Given the description of an element on the screen output the (x, y) to click on. 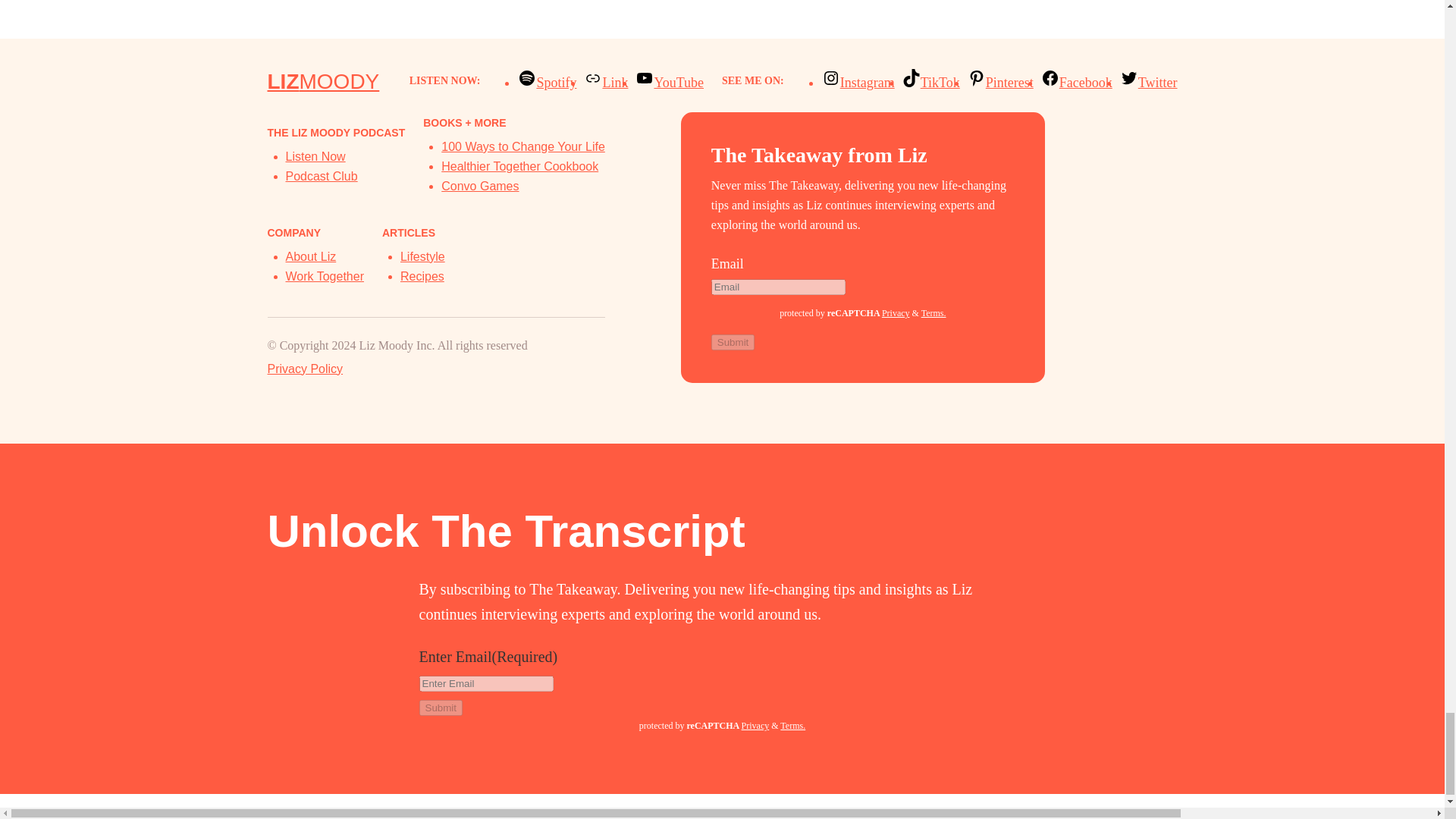
Submit (440, 707)
Submit (732, 342)
